Given the description of an element on the screen output the (x, y) to click on. 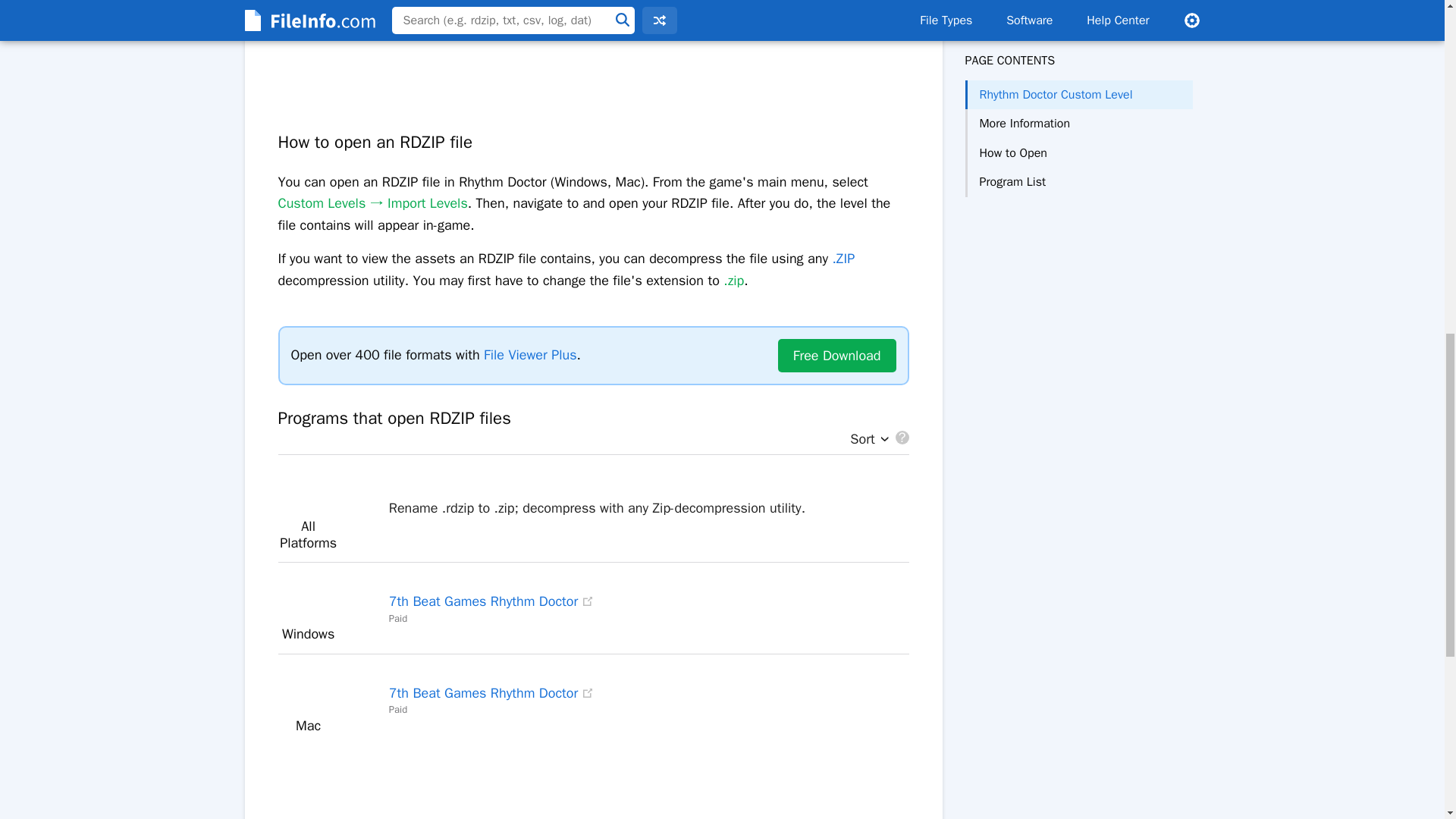
7th Beat Games Rhythm Doctor (483, 600)
7th Beat Games Rhythm Doctor (483, 692)
.ZIP (842, 258)
Sort (865, 439)
